Given the description of an element on the screen output the (x, y) to click on. 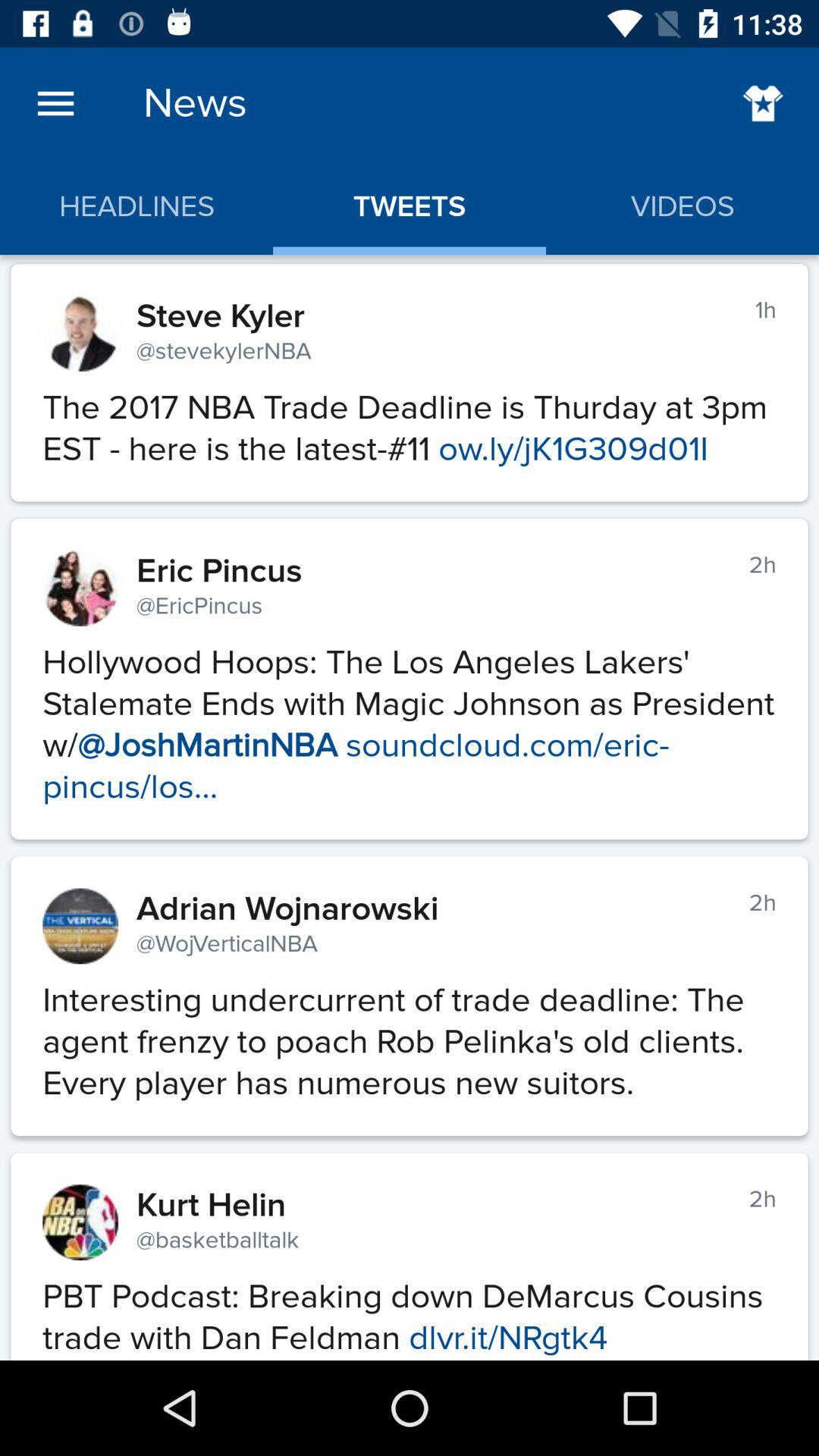
jump until the headlines icon (136, 206)
